Given the description of an element on the screen output the (x, y) to click on. 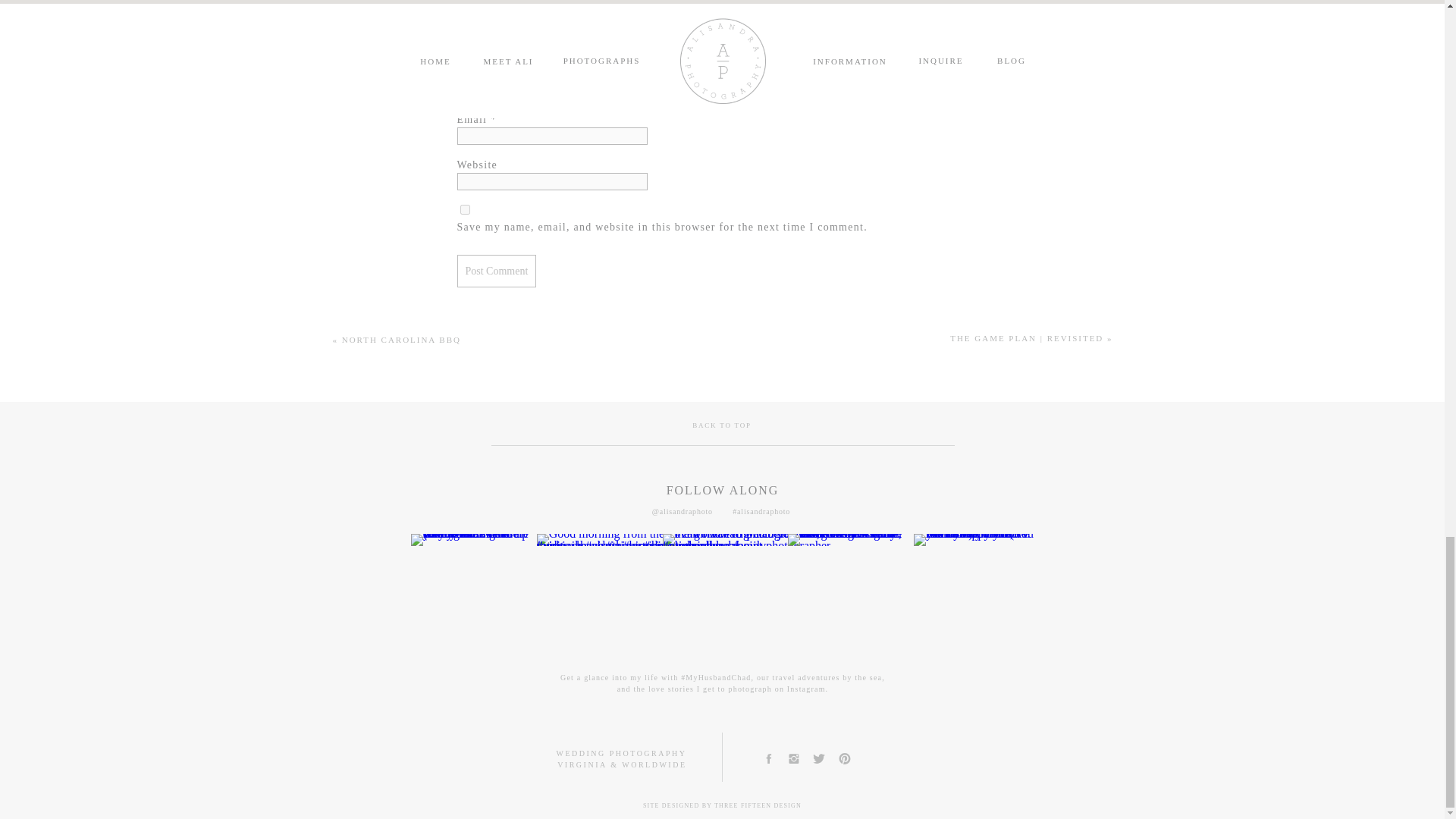
SITE DESIGNED BY THREE FIFTEEN DESIGN (722, 807)
BACK TO TOP (722, 426)
Post Comment (496, 270)
FOLLOW ALONG (722, 490)
NORTH CAROLINA BBQ (401, 338)
yes (464, 209)
Post Comment (496, 270)
